Given the description of an element on the screen output the (x, y) to click on. 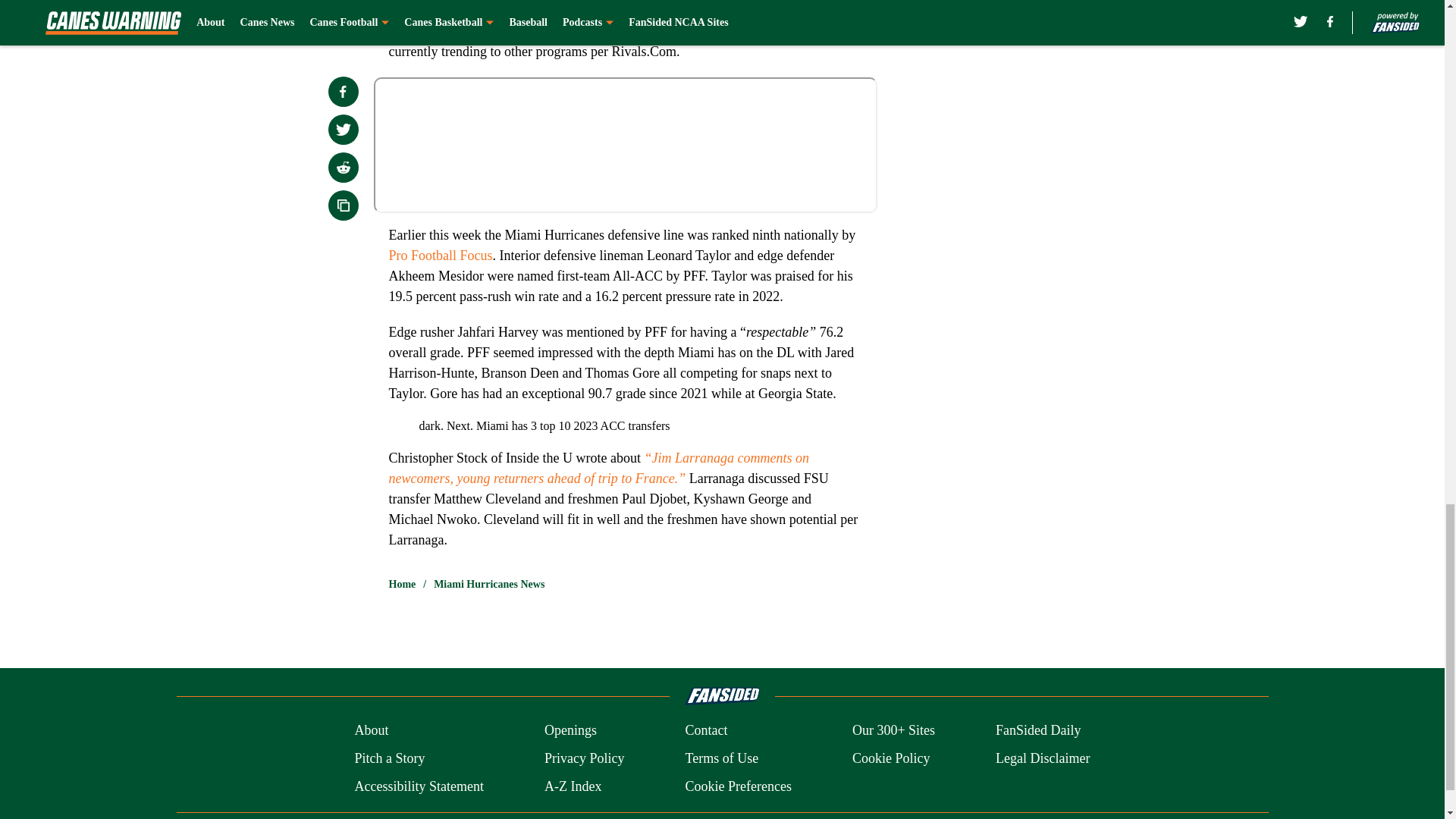
Terms of Use (721, 758)
Miami Hurricanes News (488, 584)
Pitch a Story (389, 758)
Privacy Policy (584, 758)
Pro Football Focus (440, 255)
FanSided Daily (1038, 730)
Home (401, 584)
About (370, 730)
Contact (705, 730)
Openings (570, 730)
